Given the description of an element on the screen output the (x, y) to click on. 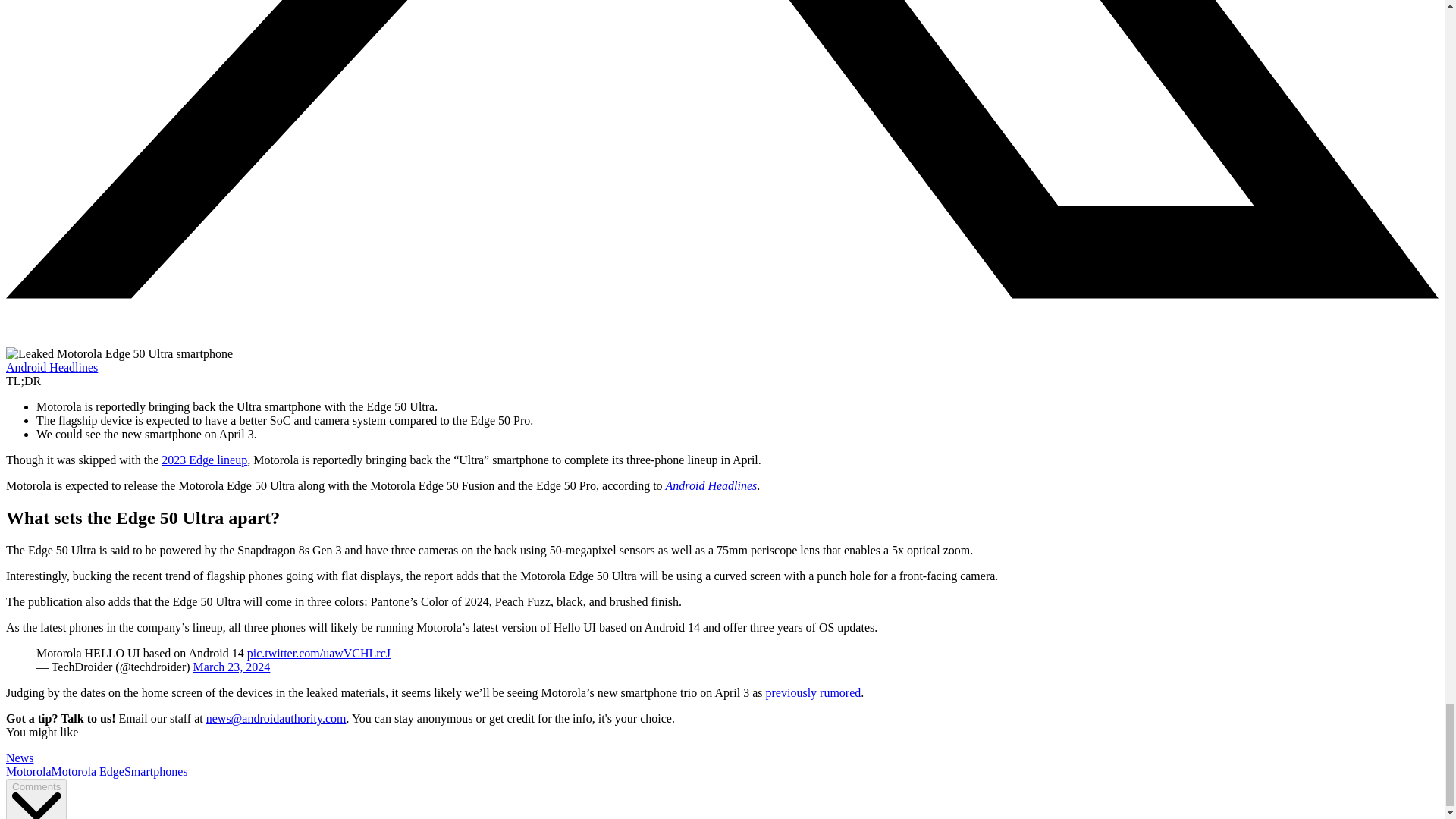
Android Headlines (711, 485)
Motorola (27, 771)
Motorola Edge (86, 771)
Android Headlines (51, 367)
Motorola Edge 50 Ultra leaked 1920x1080 (118, 354)
2023 Edge lineup (204, 459)
March 23, 2024 (231, 666)
Smartphones (155, 771)
News (19, 757)
previously rumored (813, 692)
